Given the description of an element on the screen output the (x, y) to click on. 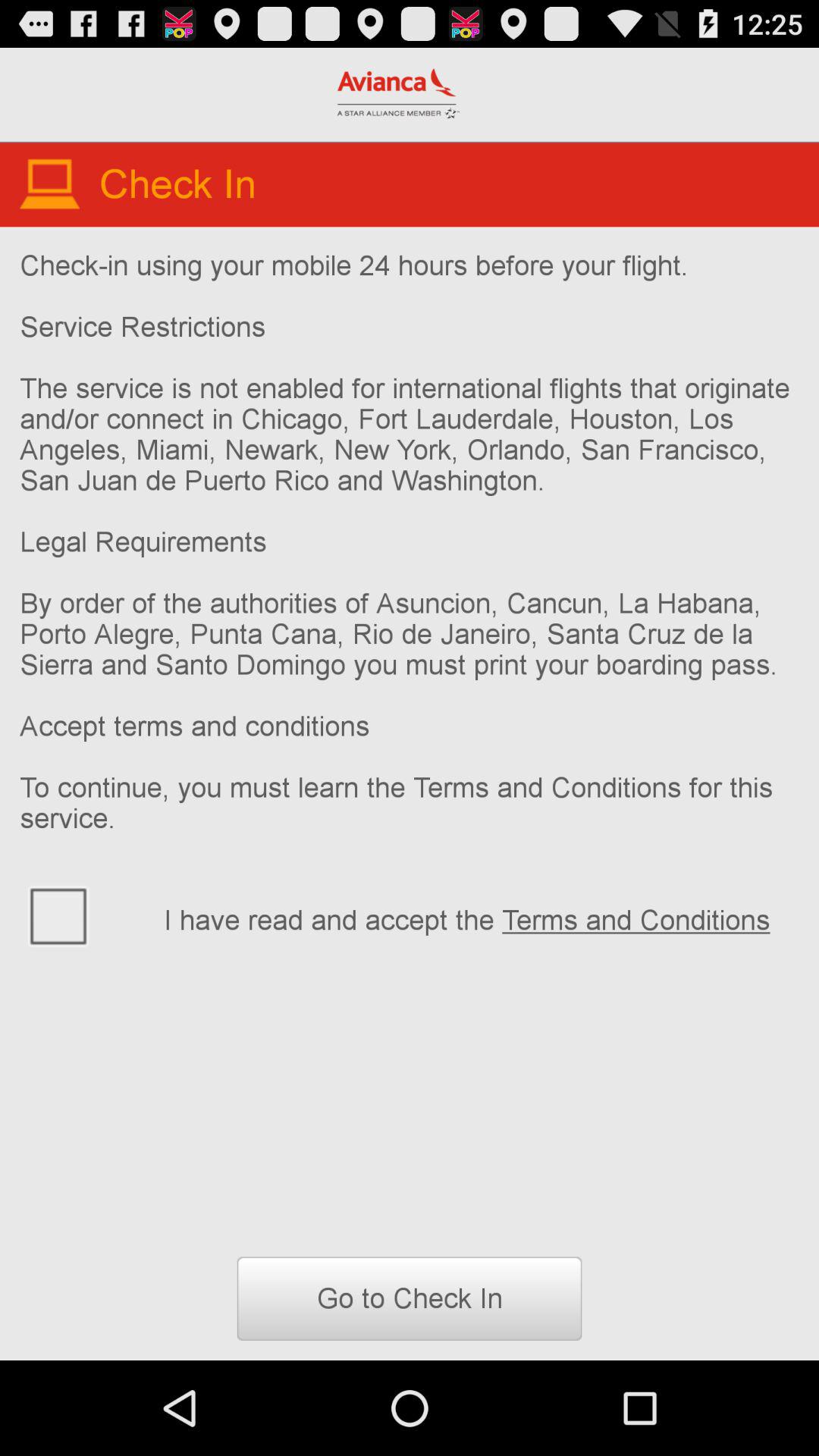
open icon above go to check item (481, 917)
